Given the description of an element on the screen output the (x, y) to click on. 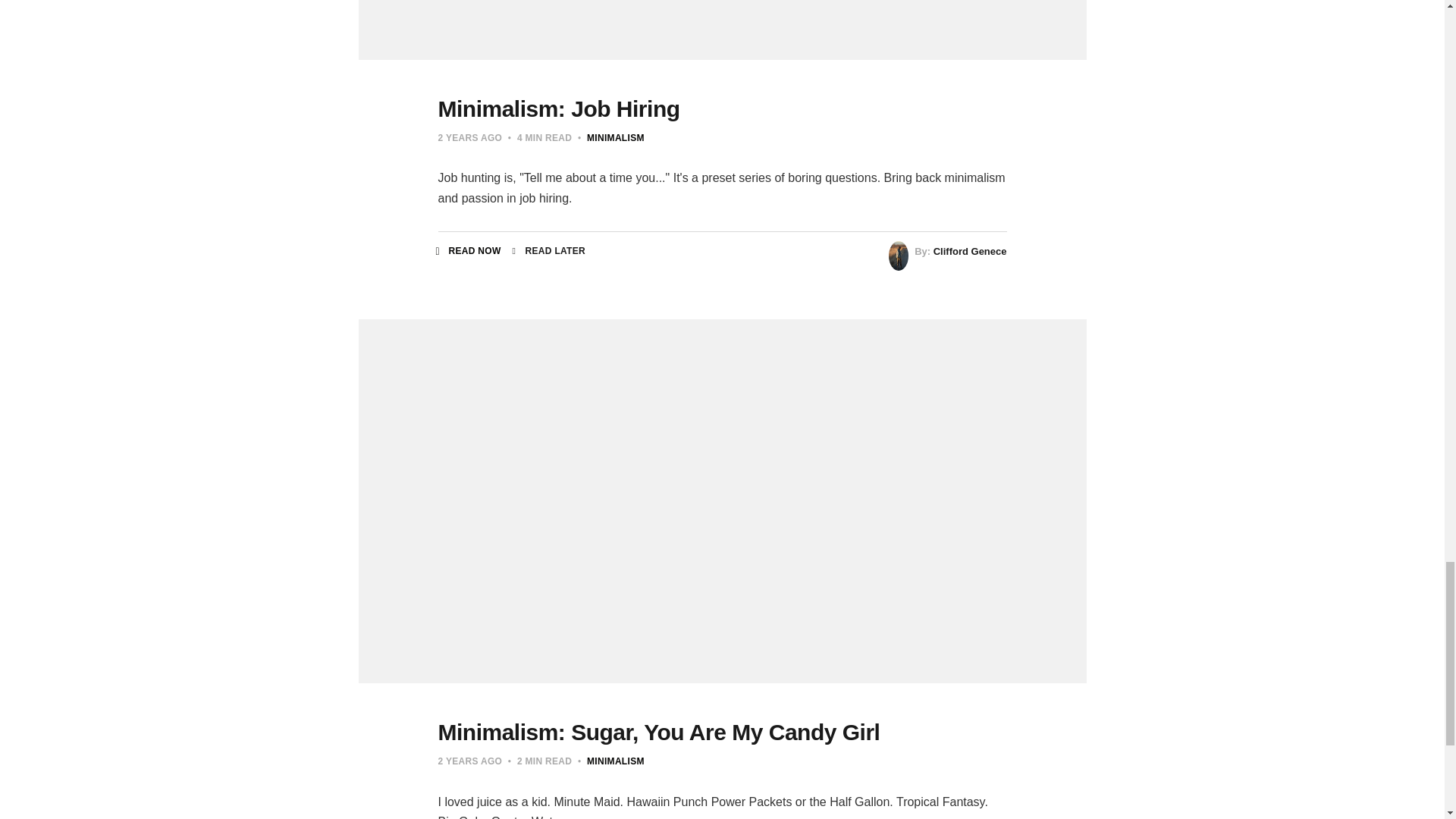
Minimalism: Job Hiring (558, 108)
Clifford Genece (970, 251)
Minimalism (615, 137)
MINIMALISM (615, 137)
READ LATER (548, 250)
READ NOW (469, 250)
Minimalism (615, 760)
